Given the description of an element on the screen output the (x, y) to click on. 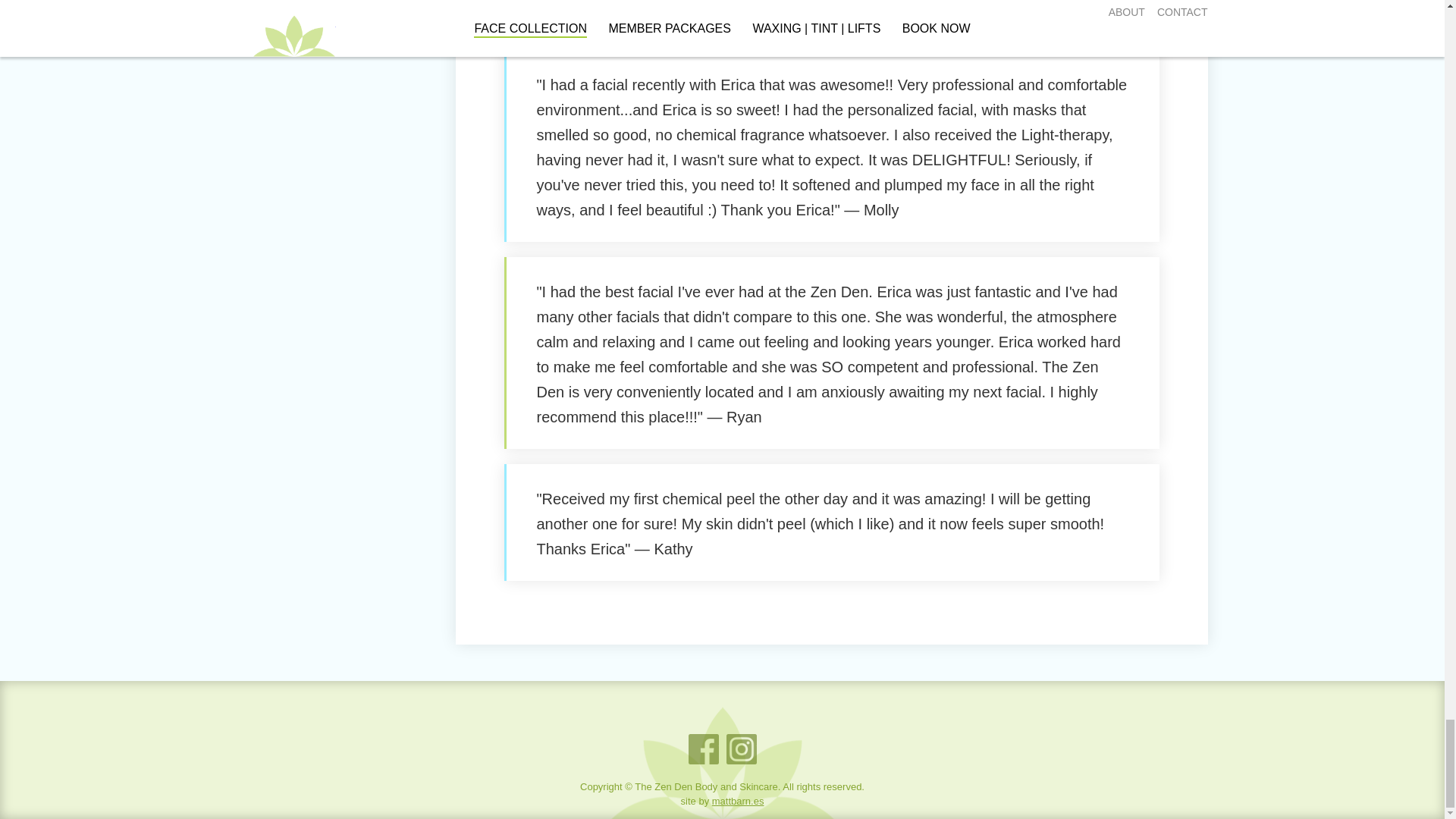
mattbarn.es (737, 800)
Facebook (703, 748)
Instagram (741, 748)
